Given the description of an element on the screen output the (x, y) to click on. 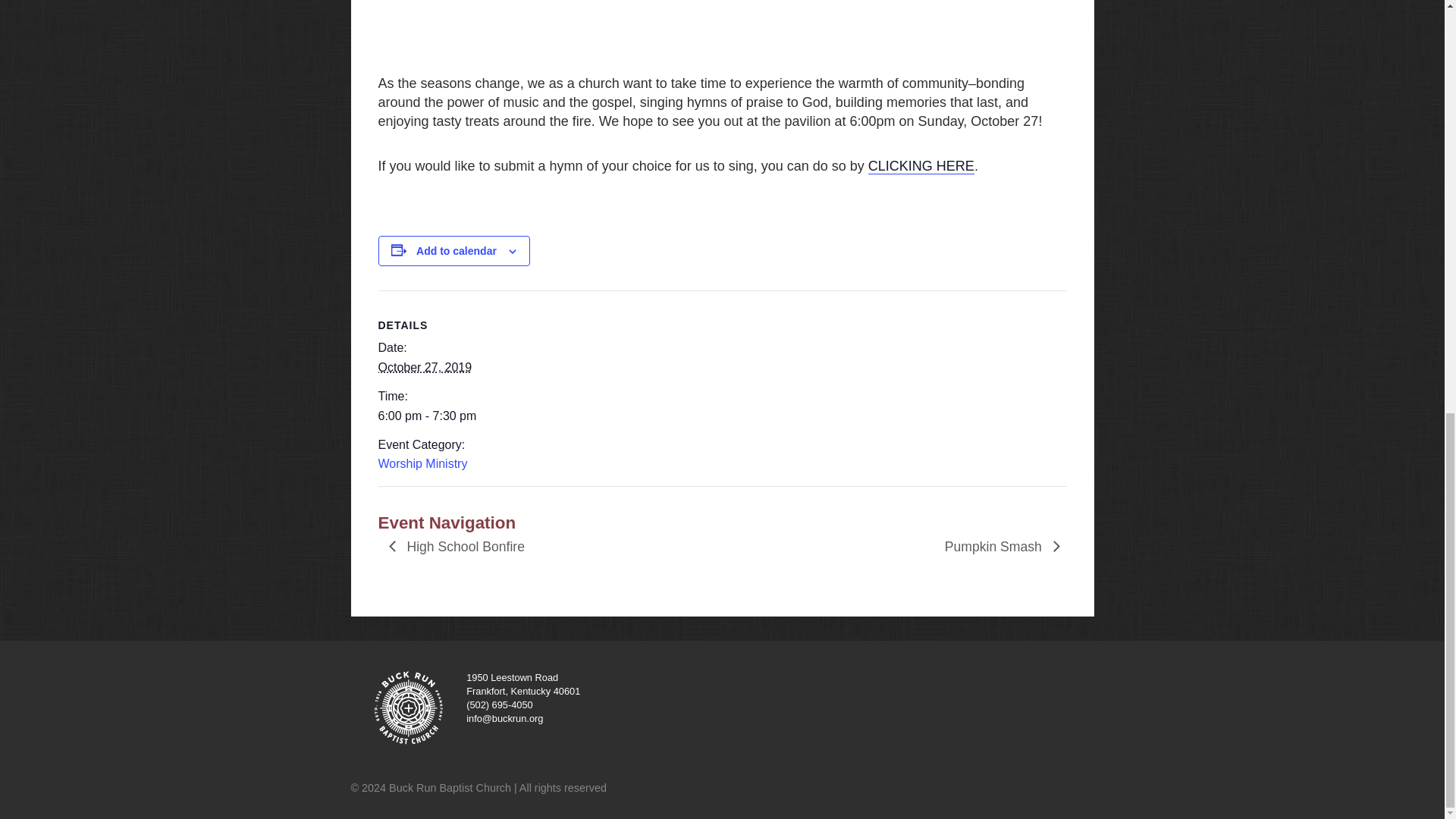
2019-10-27 (441, 416)
2019-10-27 (424, 367)
